Given the description of an element on the screen output the (x, y) to click on. 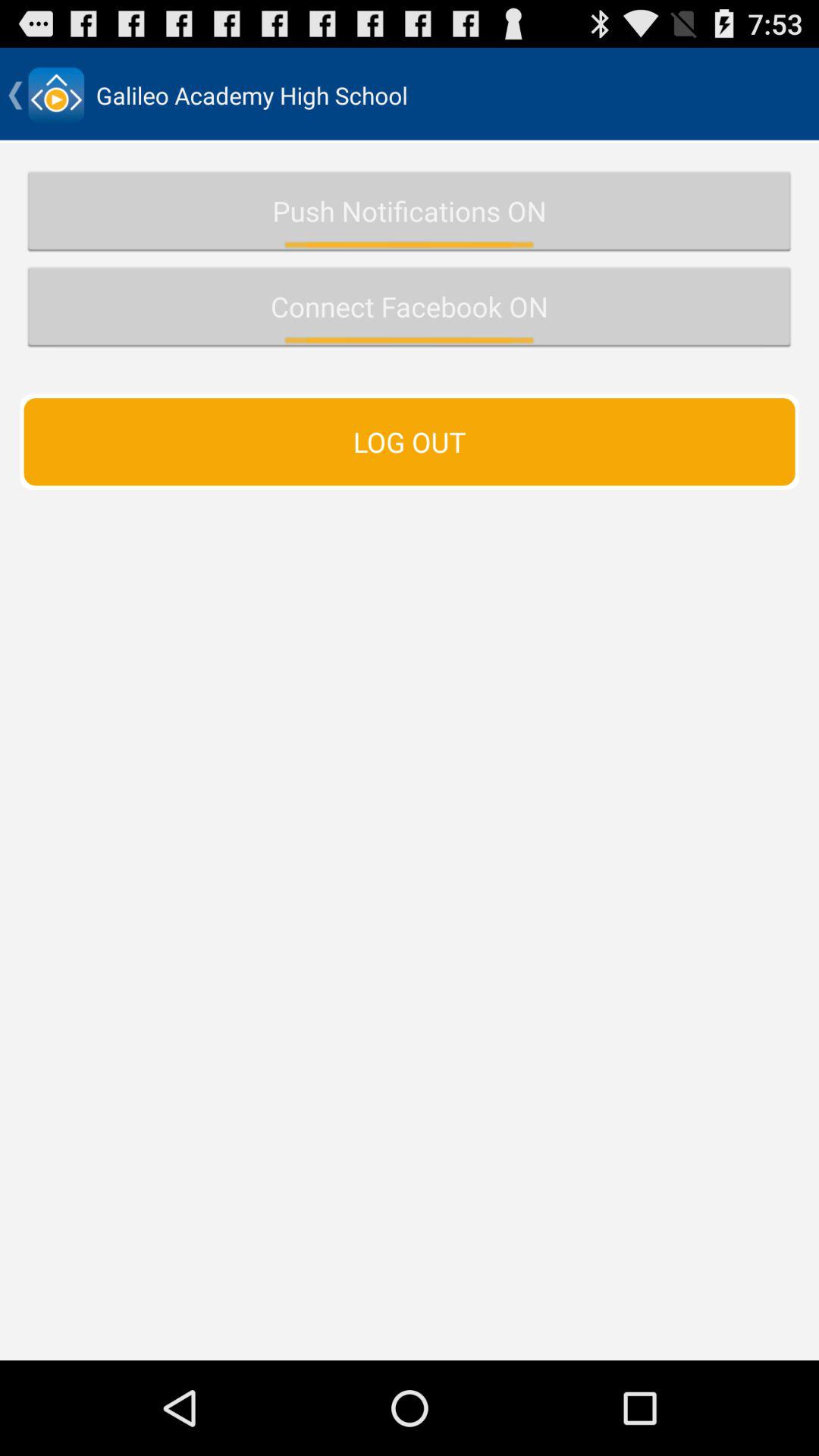
launch button above the log out item (409, 306)
